Given the description of an element on the screen output the (x, y) to click on. 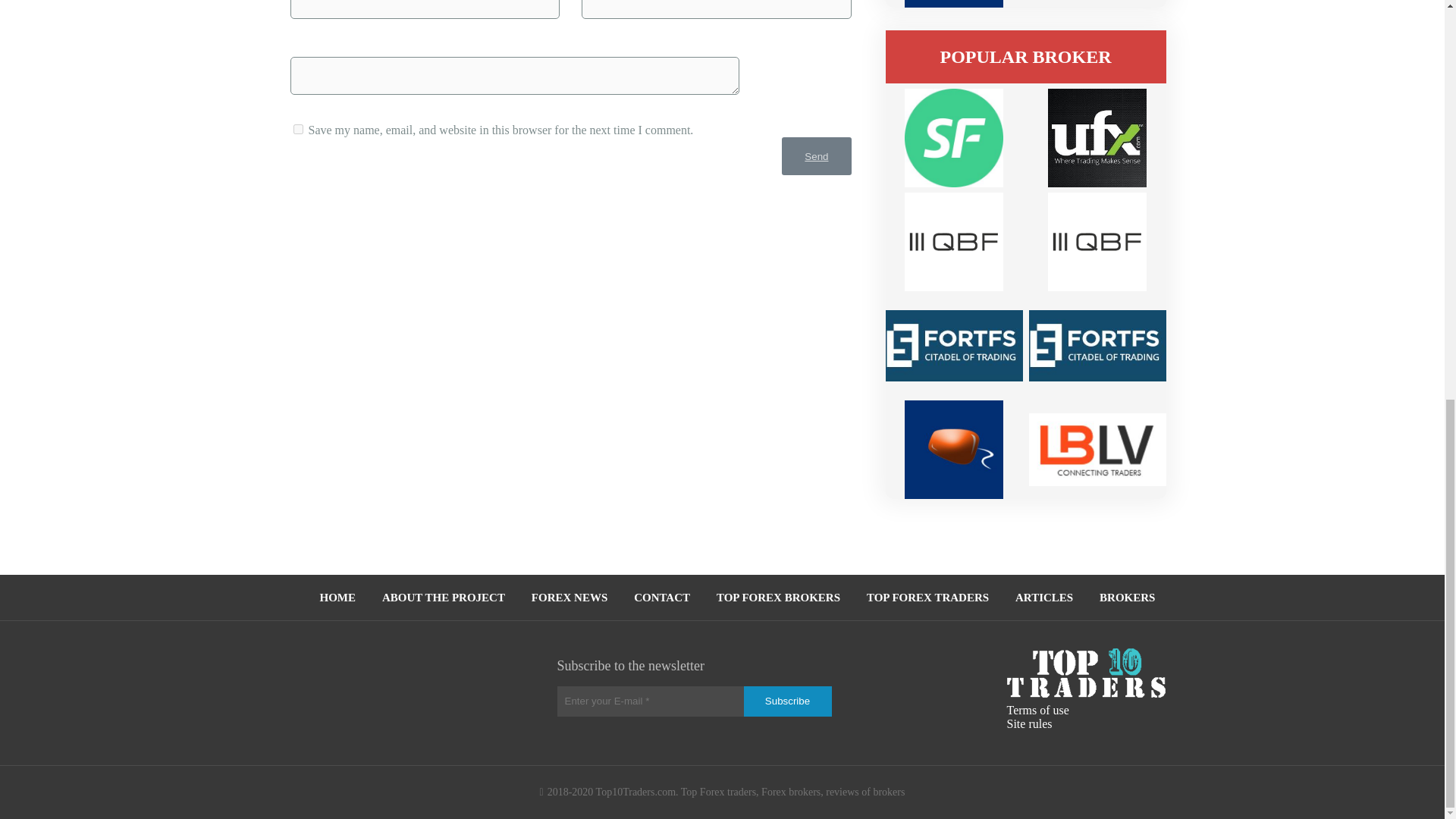
Send (815, 156)
yes (297, 129)
Subscribe (786, 701)
Enter your E-mail (650, 701)
Send (815, 156)
